Given the description of an element on the screen output the (x, y) to click on. 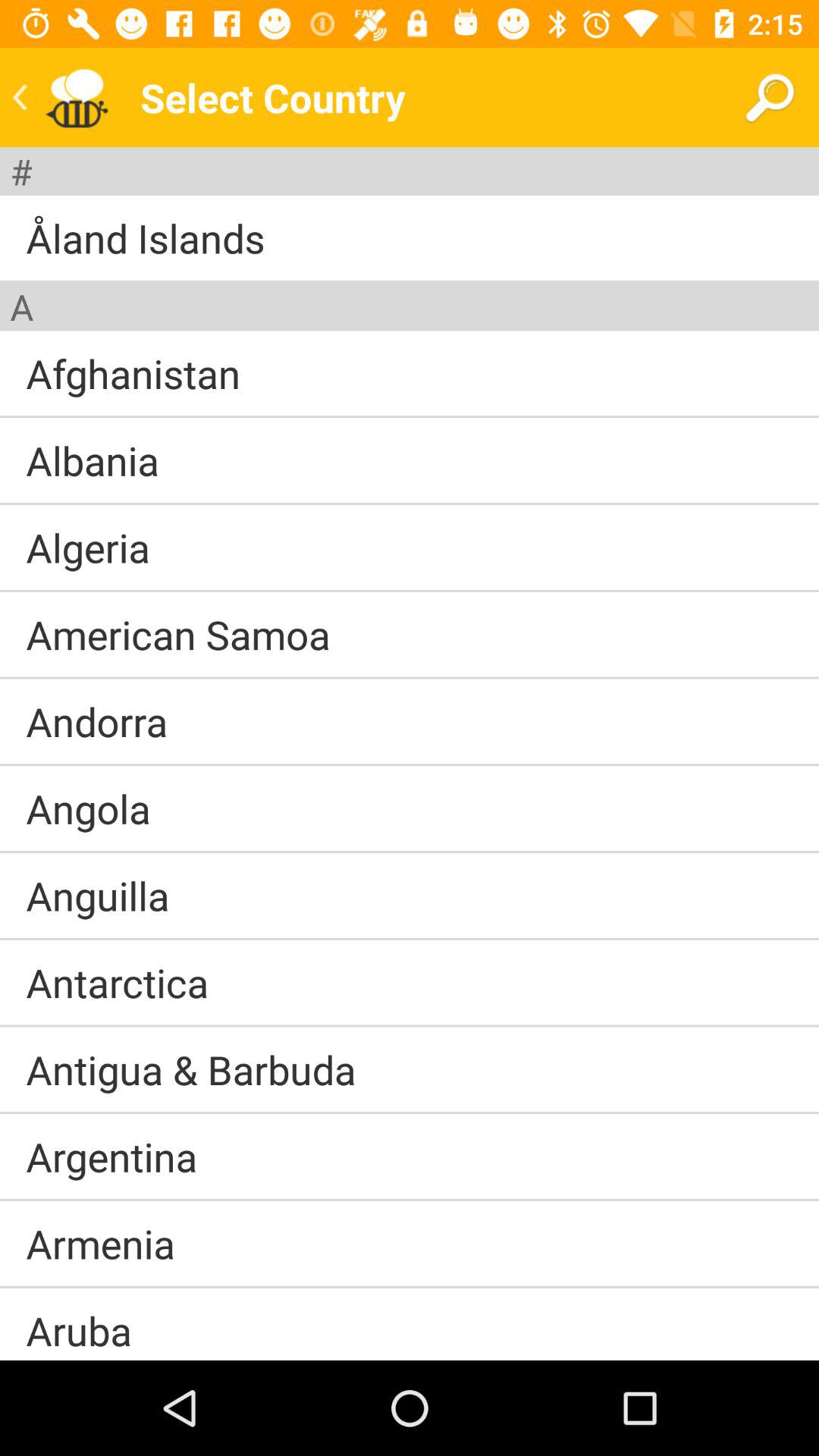
scroll to afghanistan (133, 373)
